Given the description of an element on the screen output the (x, y) to click on. 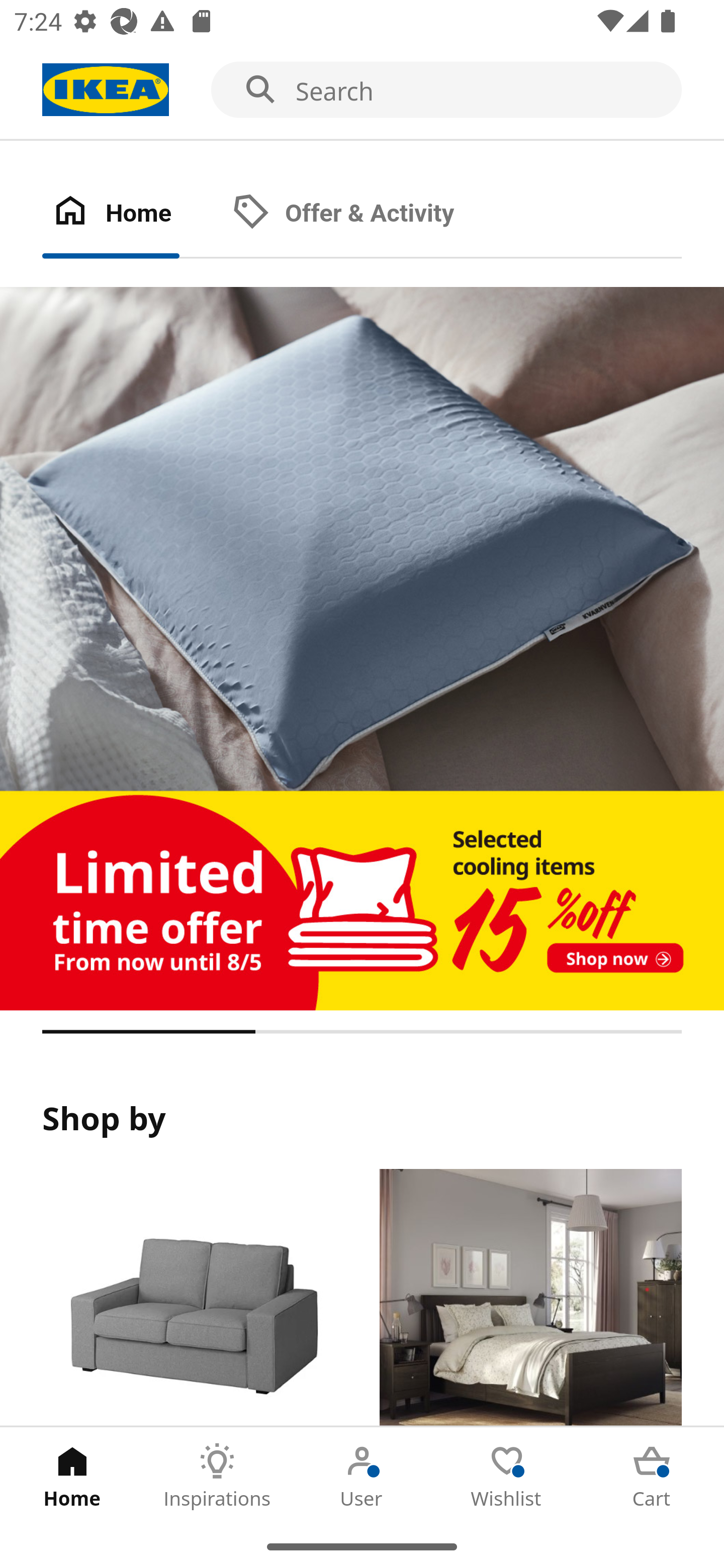
Search (361, 90)
Home
Tab 1 of 2 (131, 213)
Offer & Activity
Tab 2 of 2 (363, 213)
Products (192, 1297)
Rooms (530, 1297)
Home
Tab 1 of 5 (72, 1476)
Inspirations
Tab 2 of 5 (216, 1476)
User
Tab 3 of 5 (361, 1476)
Wishlist
Tab 4 of 5 (506, 1476)
Cart
Tab 5 of 5 (651, 1476)
